Given the description of an element on the screen output the (x, y) to click on. 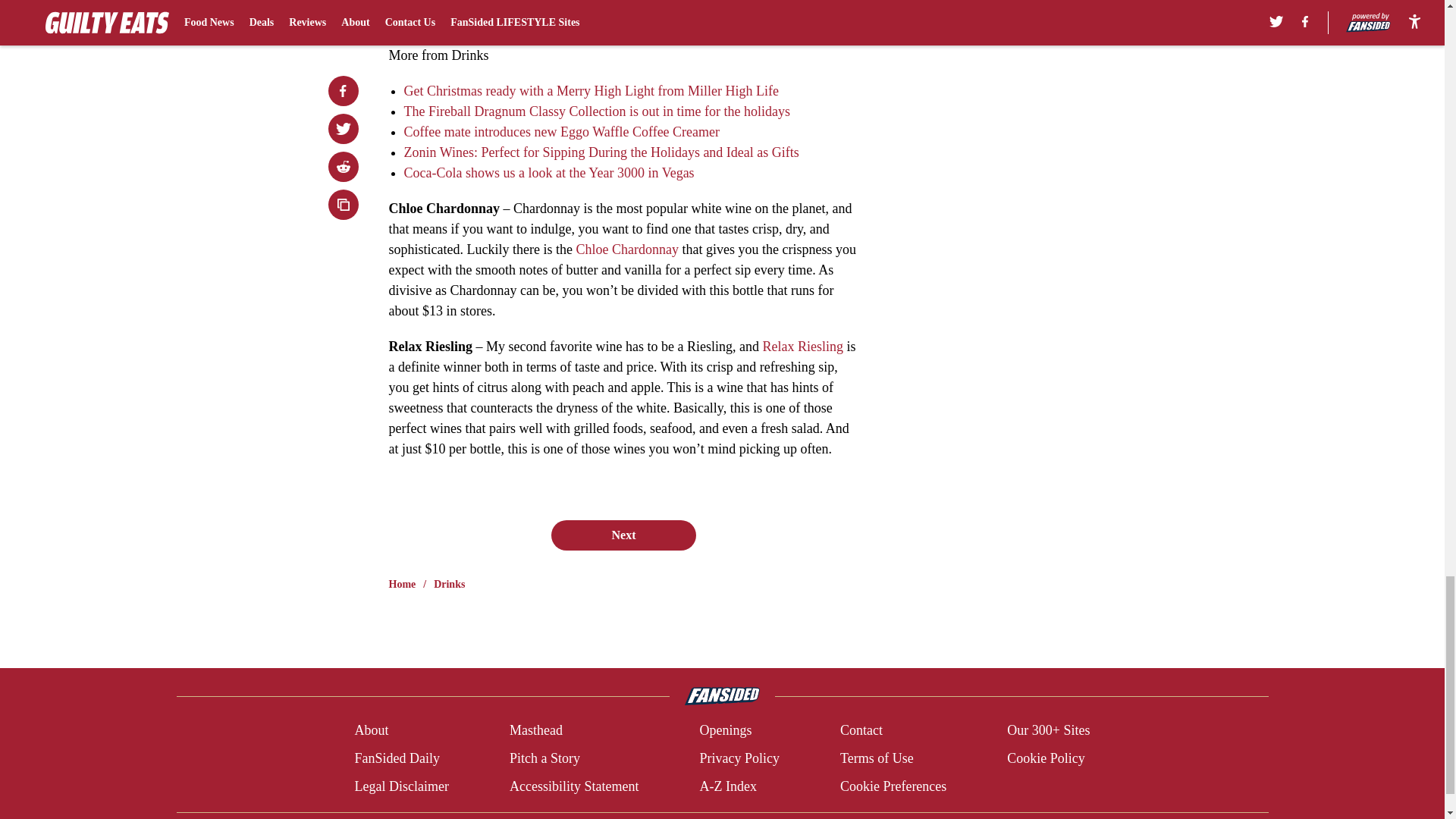
About (370, 730)
Relax Riesling (802, 346)
Drinks (448, 584)
Home (401, 584)
Coffee mate introduces new Eggo Waffle Coffee Creamer (561, 131)
Chloe Chardonnay (626, 249)
Coca-Cola shows us a look at the Year 3000 in Vegas (548, 172)
